Given the description of an element on the screen output the (x, y) to click on. 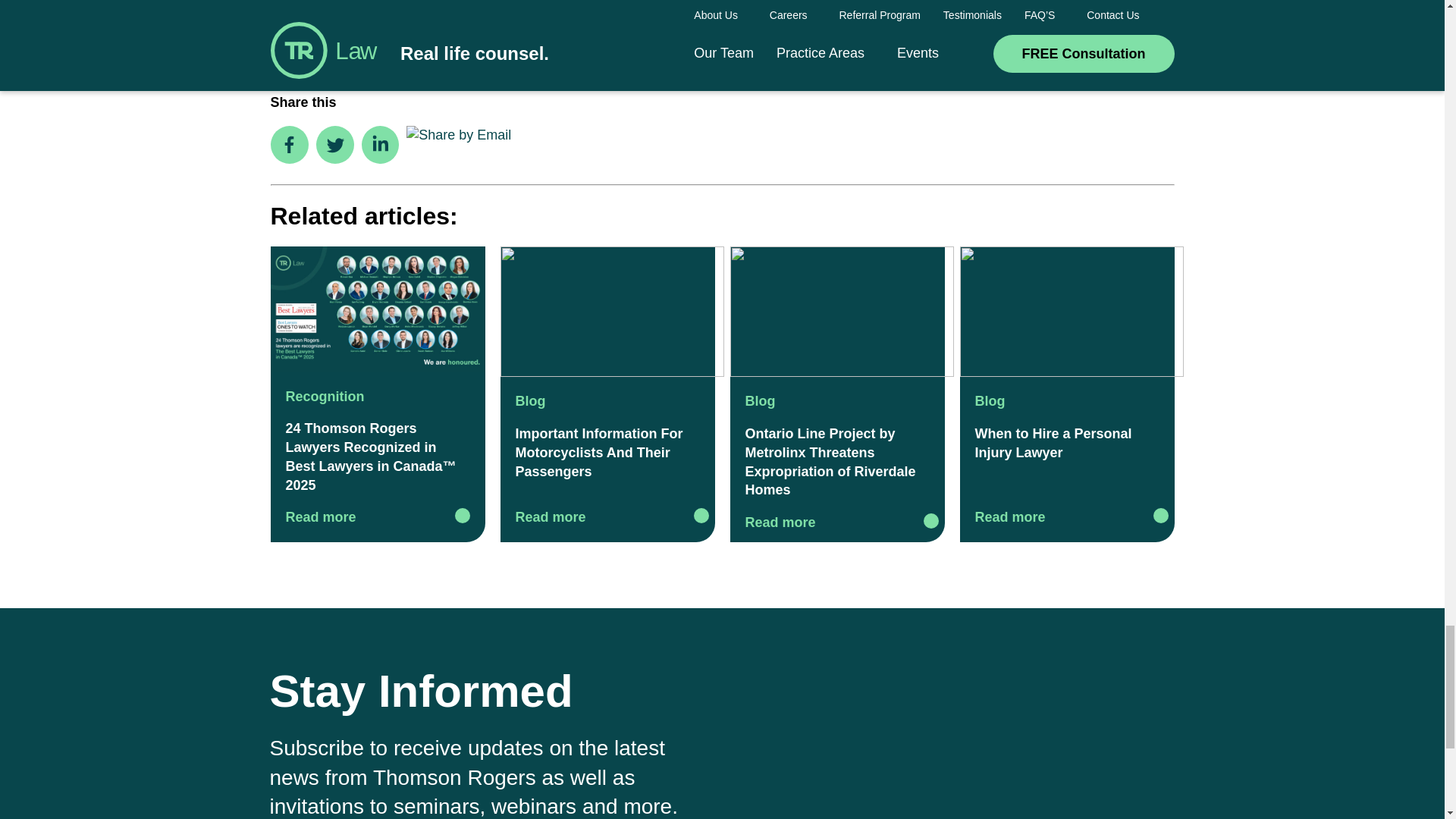
Important Information For Motorcyclists And Their Passengers (611, 311)
When to Hire a Personal Injury Lawyer (1071, 311)
